Given the description of an element on the screen output the (x, y) to click on. 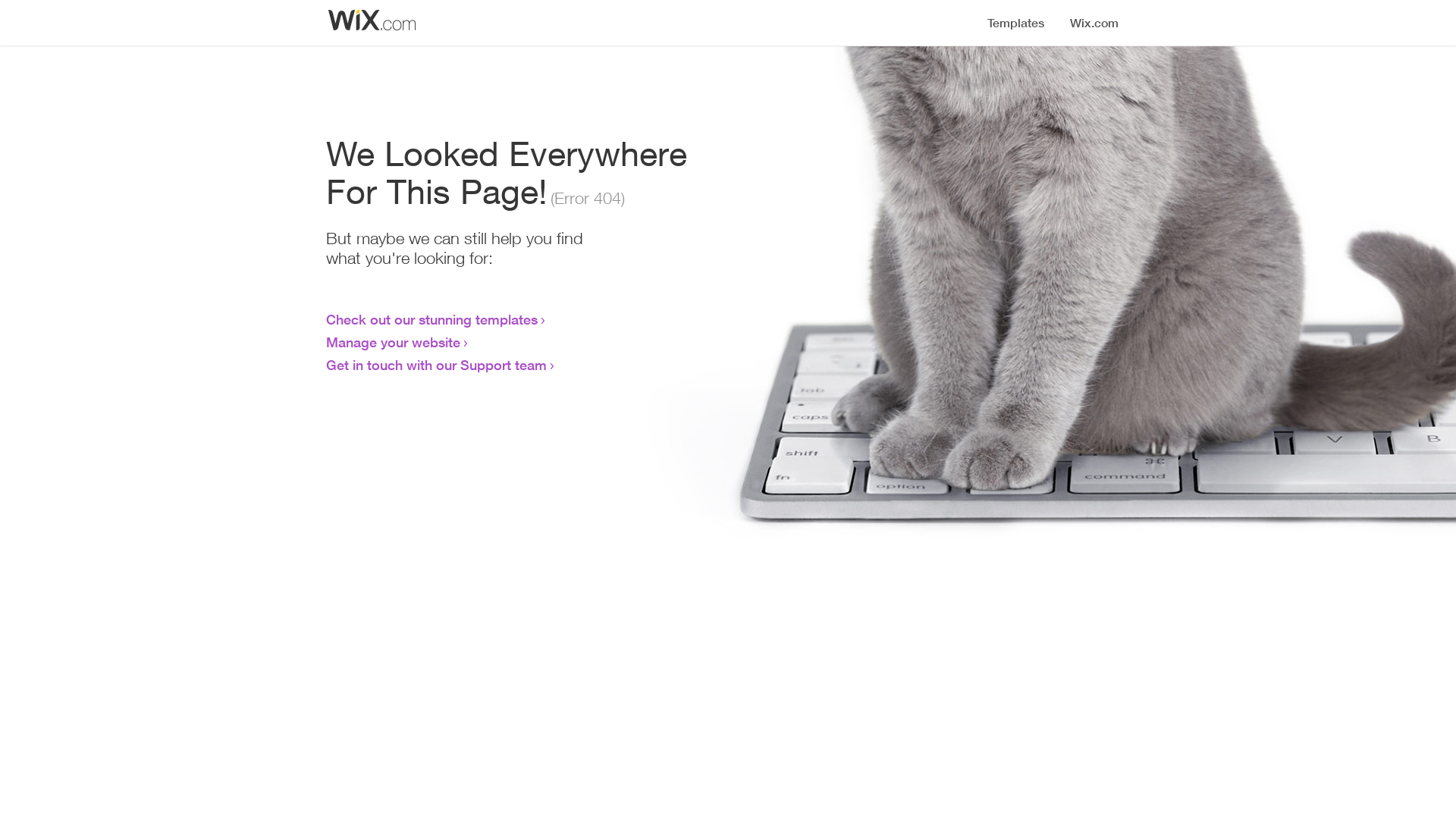
Get in touch with our Support team Element type: text (436, 364)
Check out our stunning templates Element type: text (431, 318)
Manage your website Element type: text (393, 341)
